Given the description of an element on the screen output the (x, y) to click on. 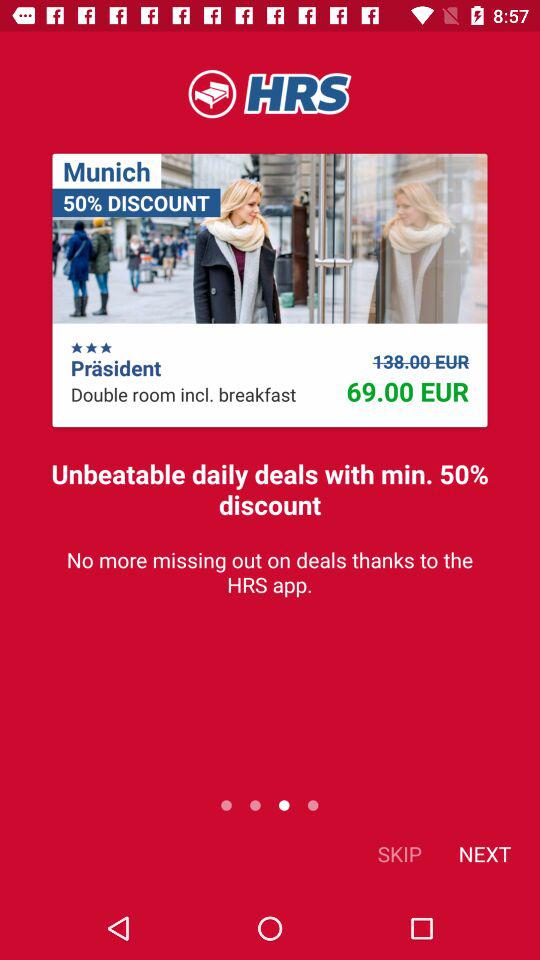
press item to the right of the skip (484, 853)
